Given the description of an element on the screen output the (x, y) to click on. 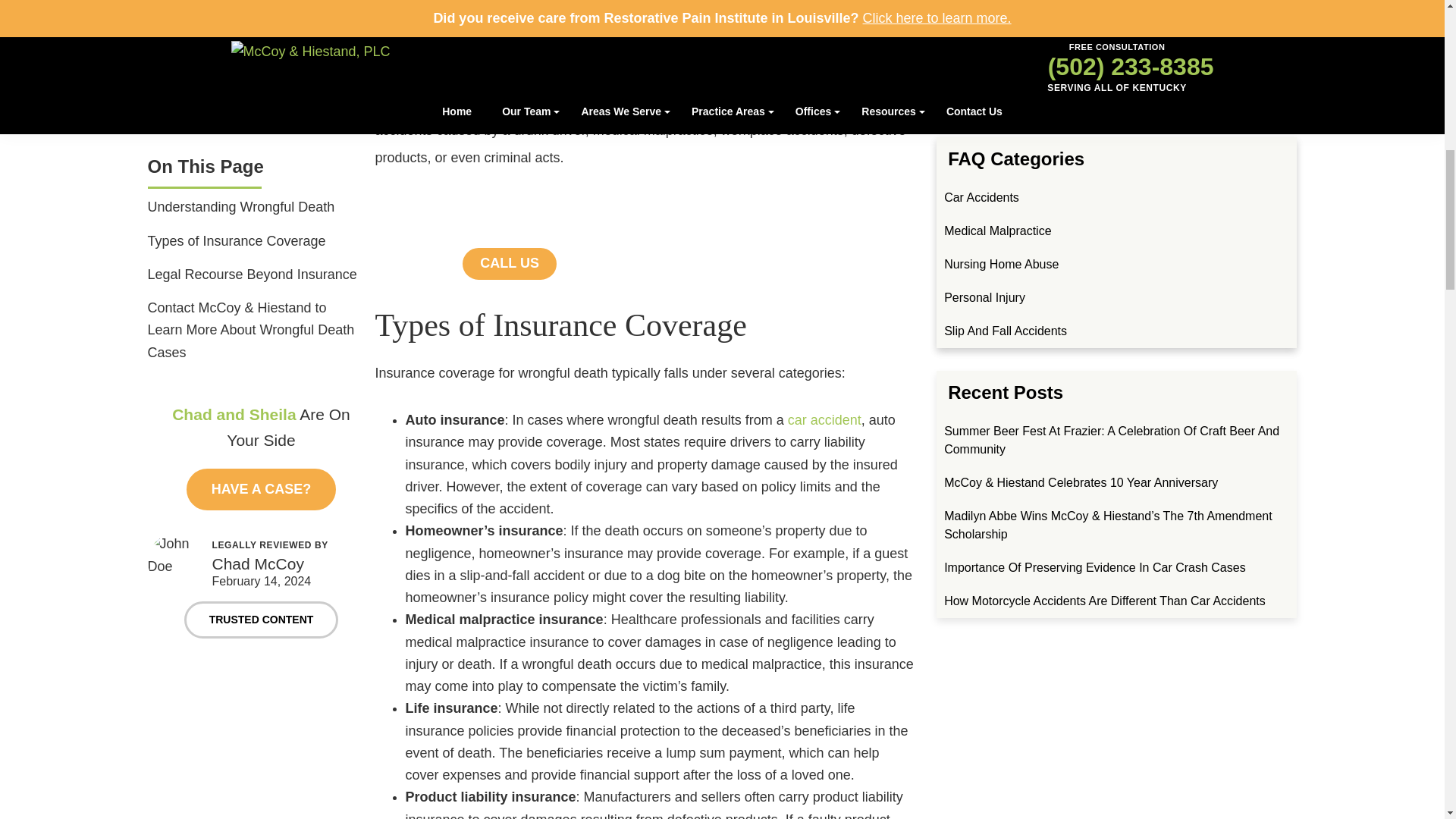
Submit (1116, 81)
